Given the description of an element on the screen output the (x, y) to click on. 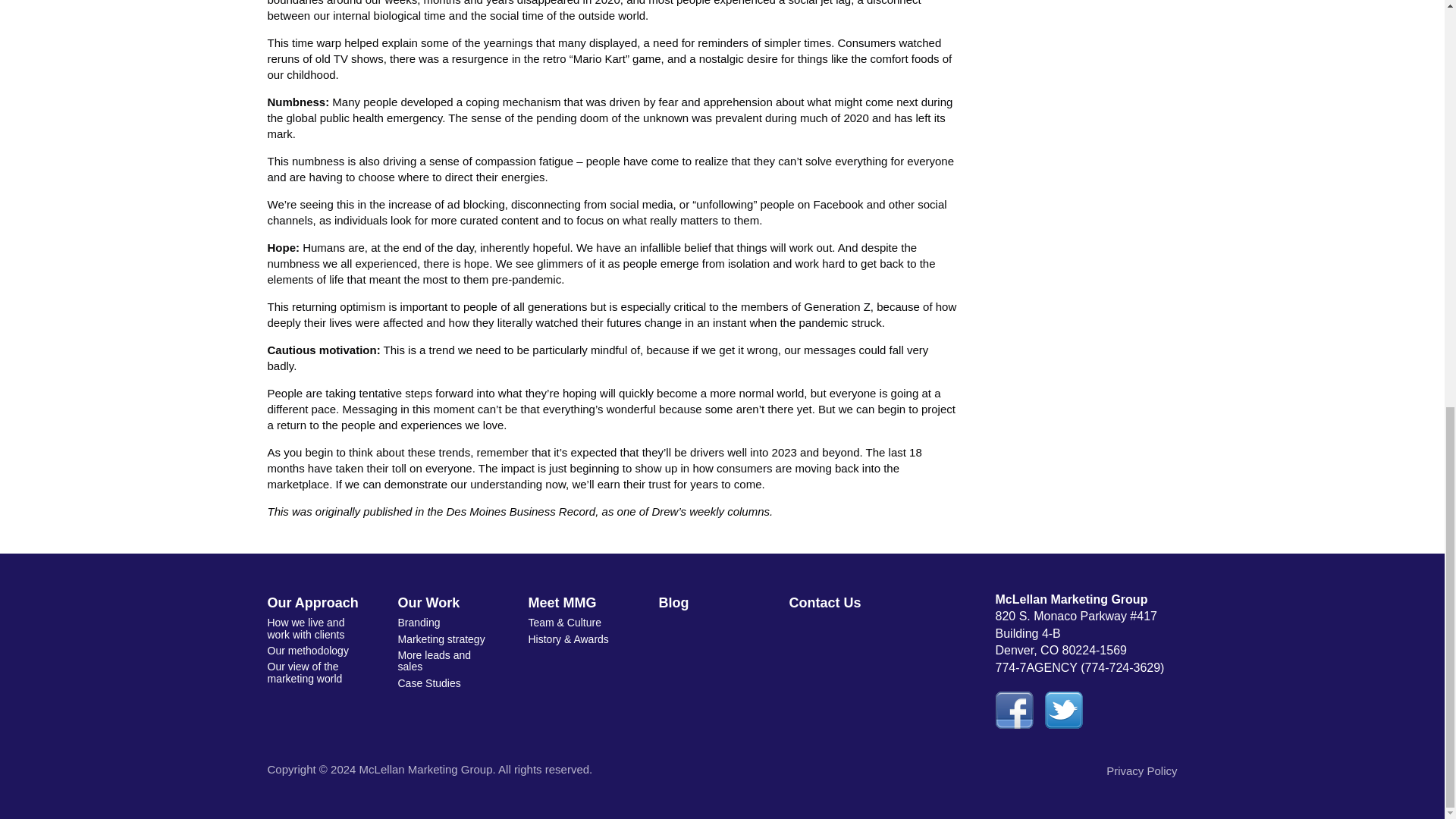
Our Approach (323, 603)
Our view of the marketing world (316, 673)
How we live and work with clients (316, 628)
Our methodology (316, 650)
